Given the description of an element on the screen output the (x, y) to click on. 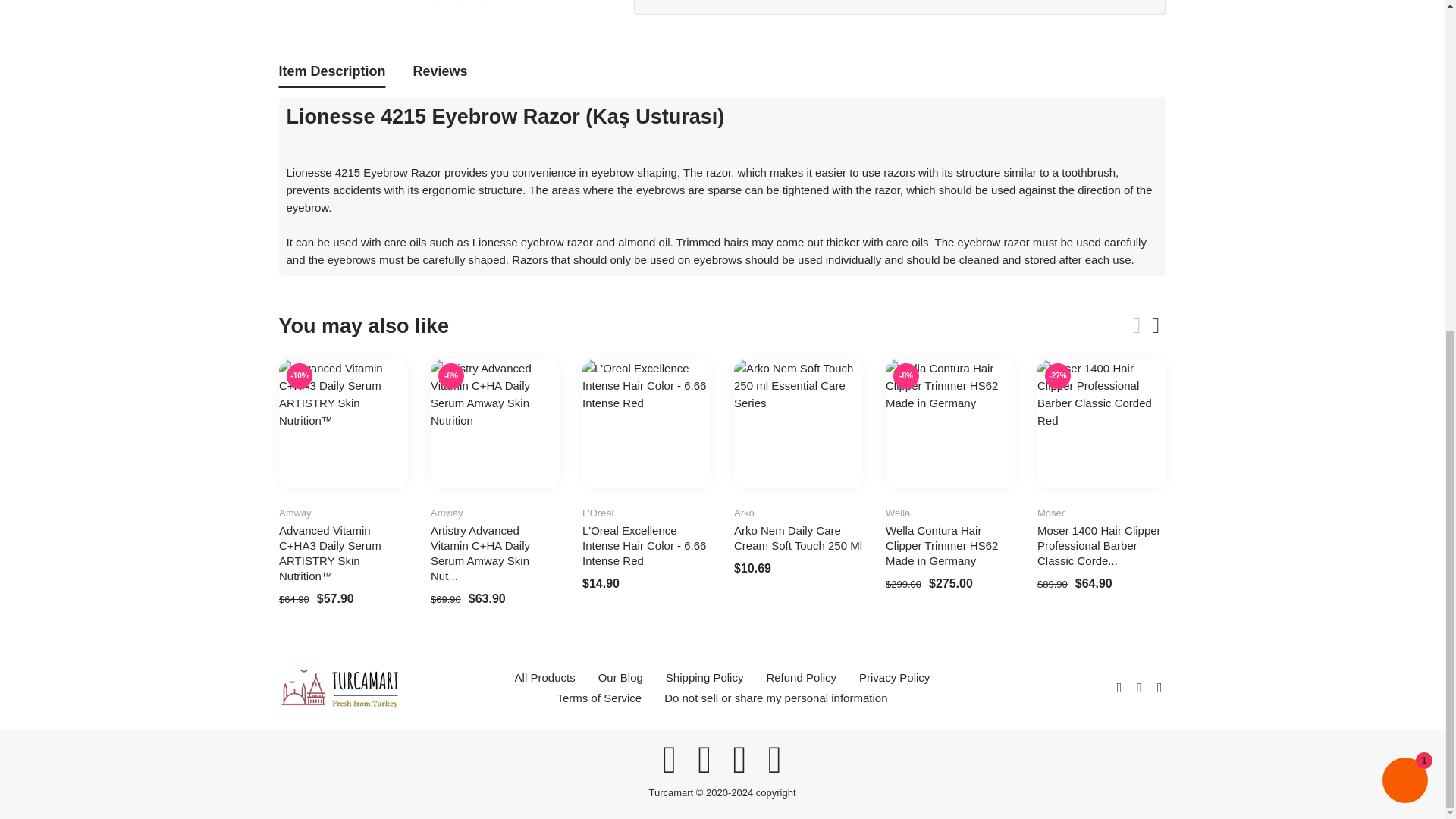
Amway (295, 512)
